Given the description of an element on the screen output the (x, y) to click on. 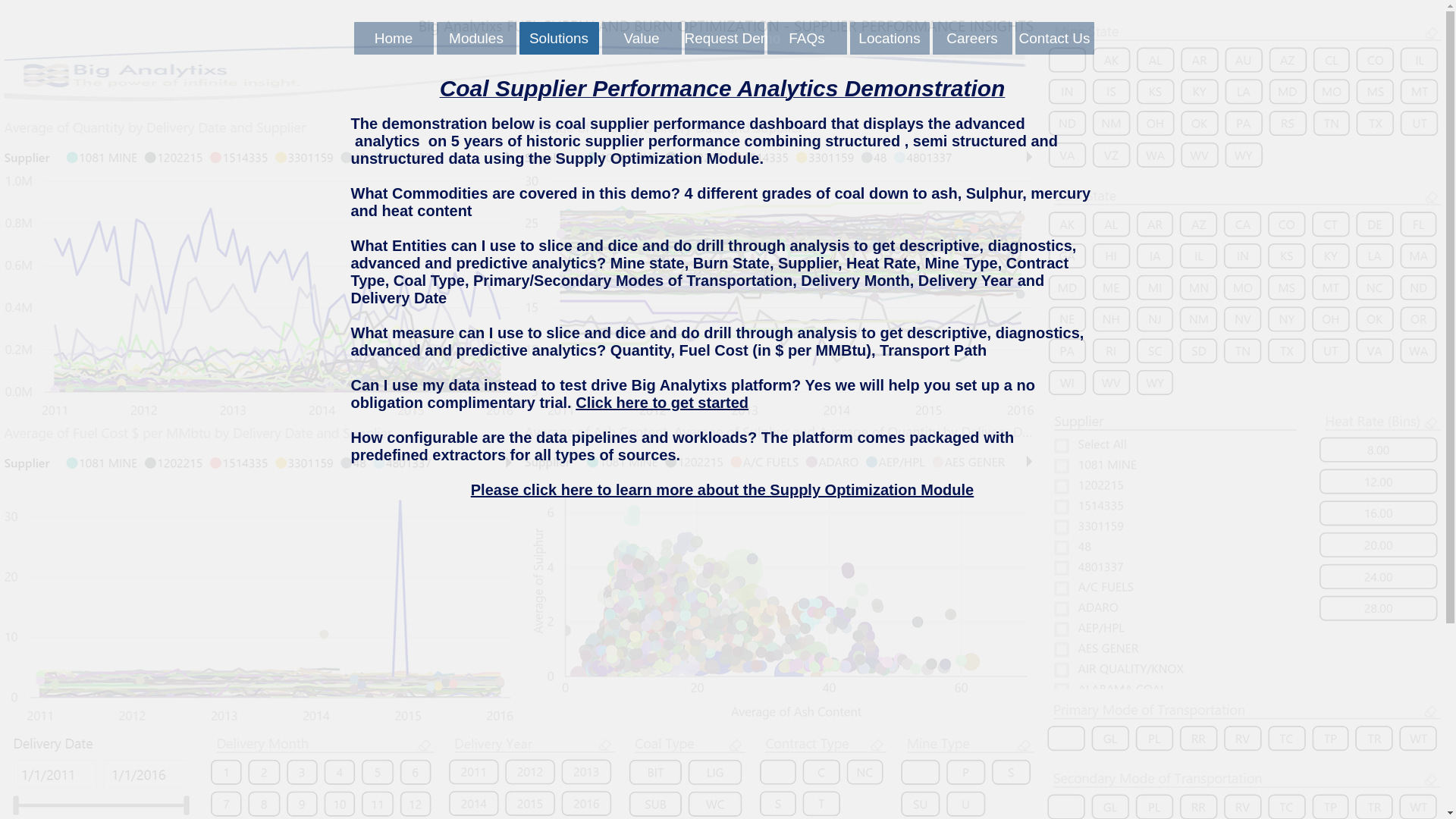
Modules (476, 38)
Solutions (558, 38)
Home (392, 38)
Value (641, 38)
